Given the description of an element on the screen output the (x, y) to click on. 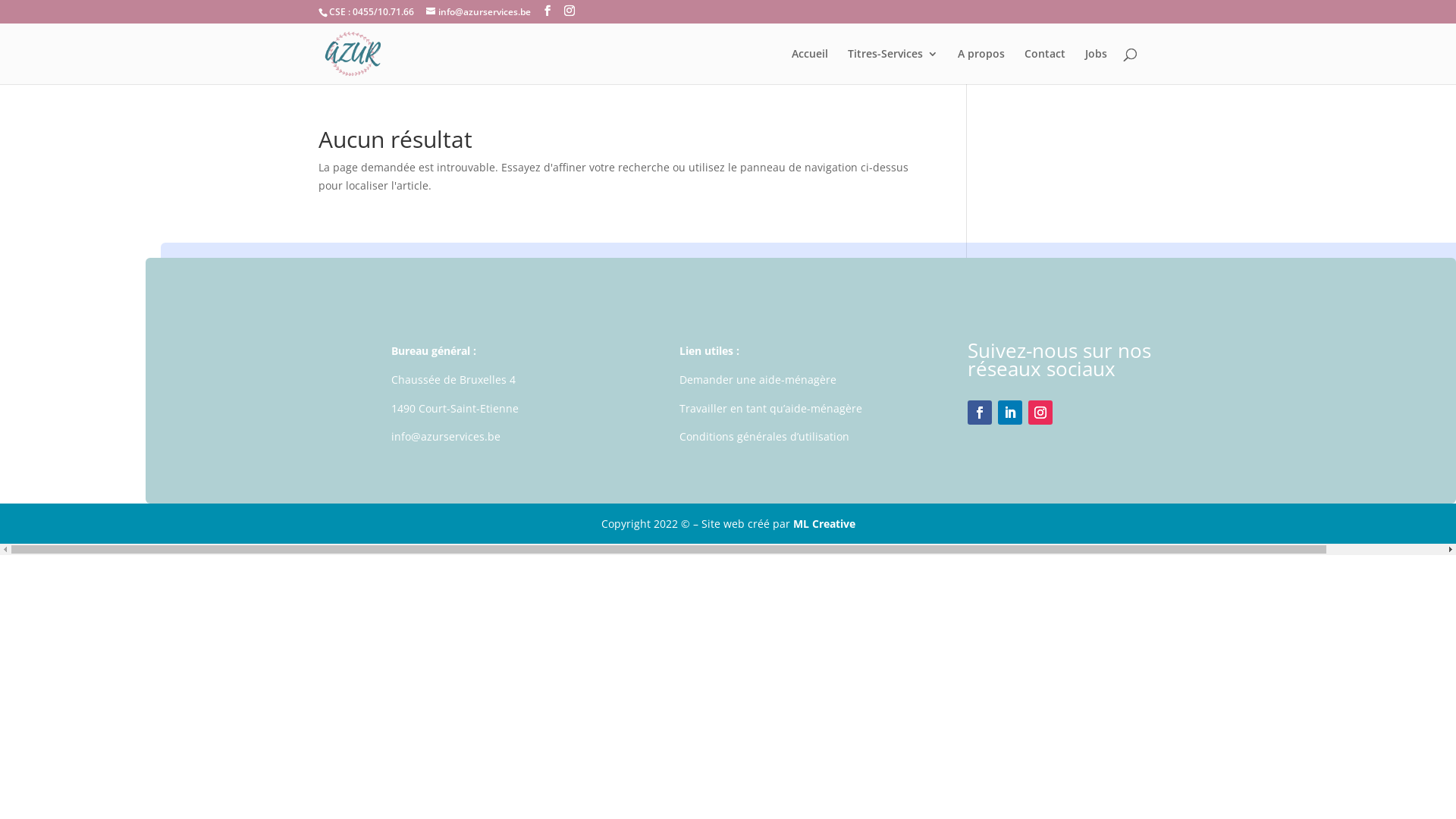
Suivez sur LinkedIn Element type: hover (1009, 412)
Suivez sur Instagram Element type: hover (1040, 412)
Suivez sur Facebook Element type: hover (979, 412)
Titres-Services Element type: text (892, 66)
A propos Element type: text (980, 66)
CSE : 0455/10.71.66 Element type: text (371, 11)
Accueil Element type: text (809, 66)
Contact Element type: text (1044, 66)
info@azurservices.be Element type: text (478, 11)
Jobs Element type: text (1096, 66)
